Given the description of an element on the screen output the (x, y) to click on. 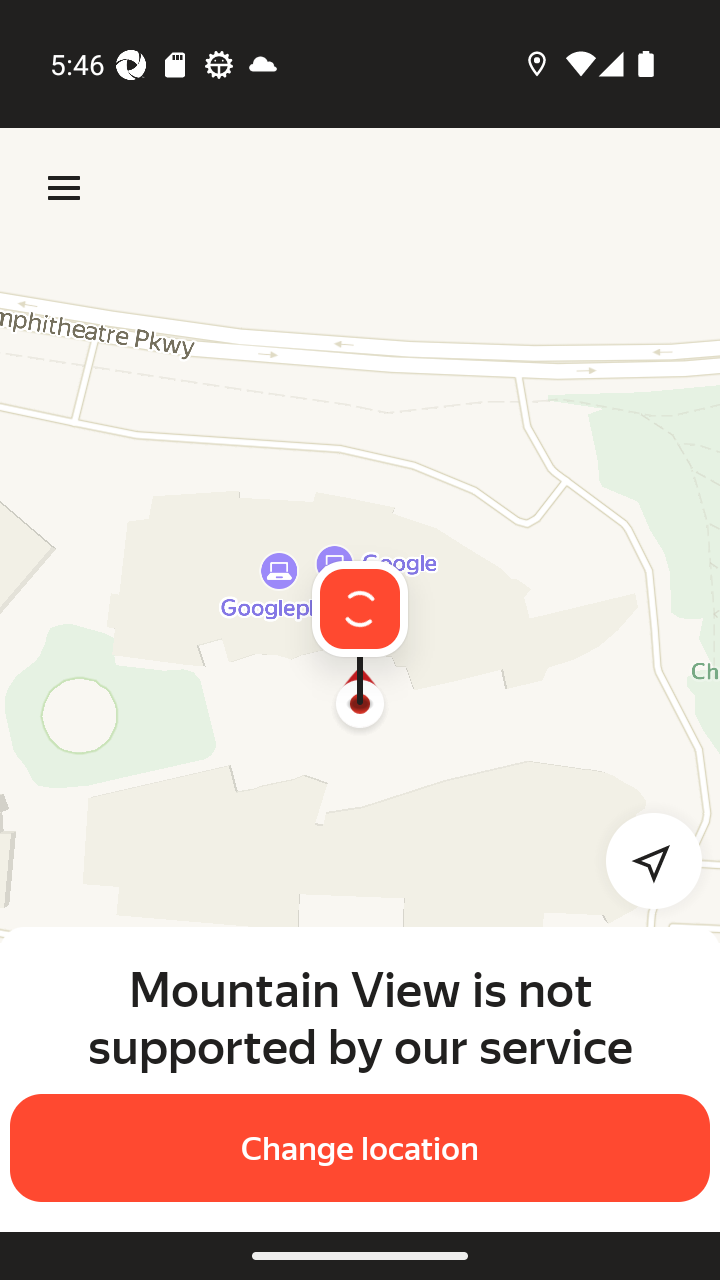
Menu Menu Menu (64, 188)
Detect my location (641, 860)
Mountain View is not supported by our service (360, 1017)
Change location (359, 1147)
